Given the description of an element on the screen output the (x, y) to click on. 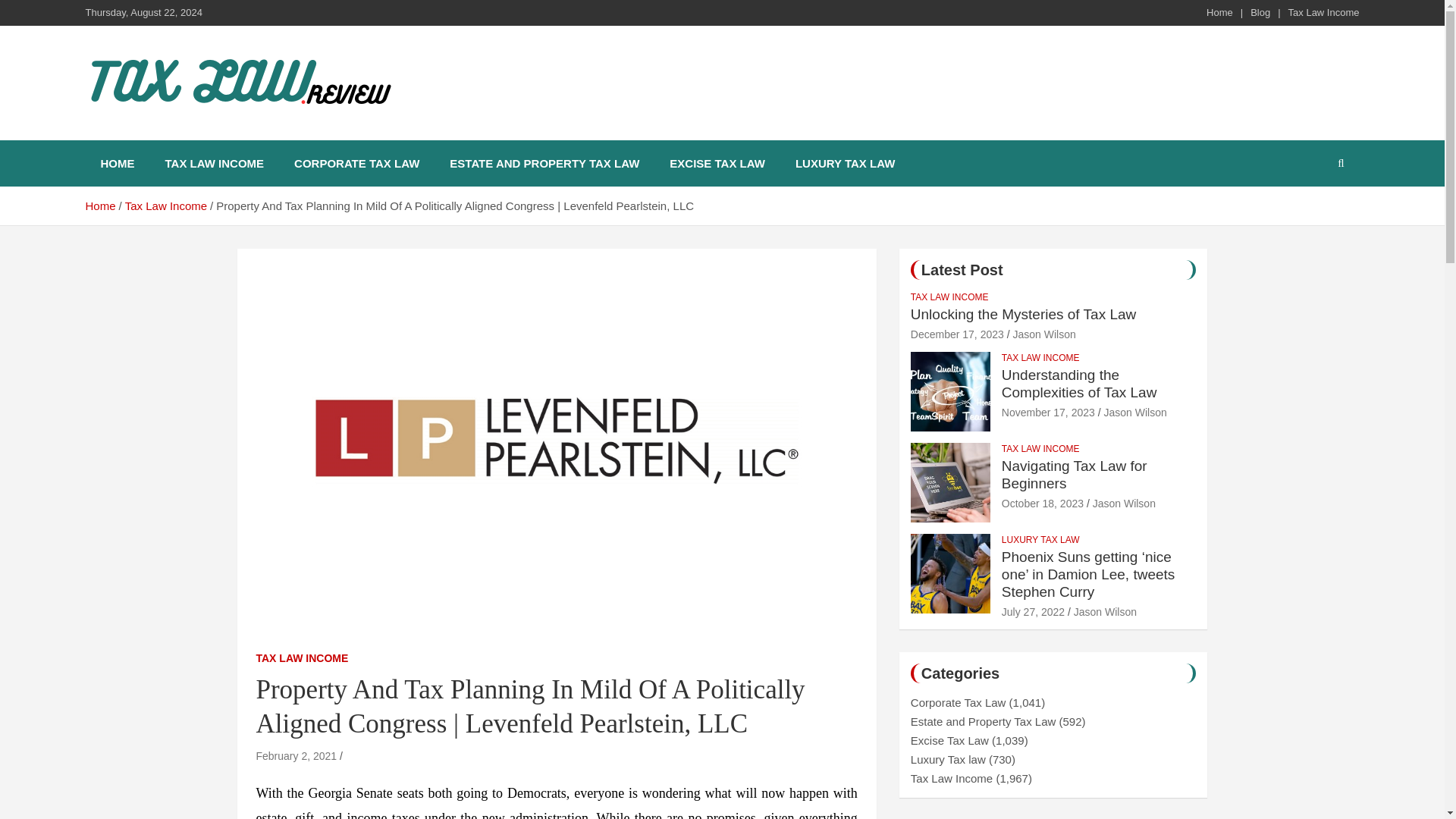
CORPORATE TAX LAW (356, 163)
TAX LAW INCOME (1040, 449)
Understanding the Complexities of Tax Law (1047, 412)
February 2, 2021 (296, 756)
Unlocking the Mysteries of Tax Law (957, 334)
October 18, 2023 (1042, 503)
December 17, 2023 (957, 334)
Home (99, 205)
LUXURY TAX LAW (845, 163)
Tax Law Income (165, 205)
